Given the description of an element on the screen output the (x, y) to click on. 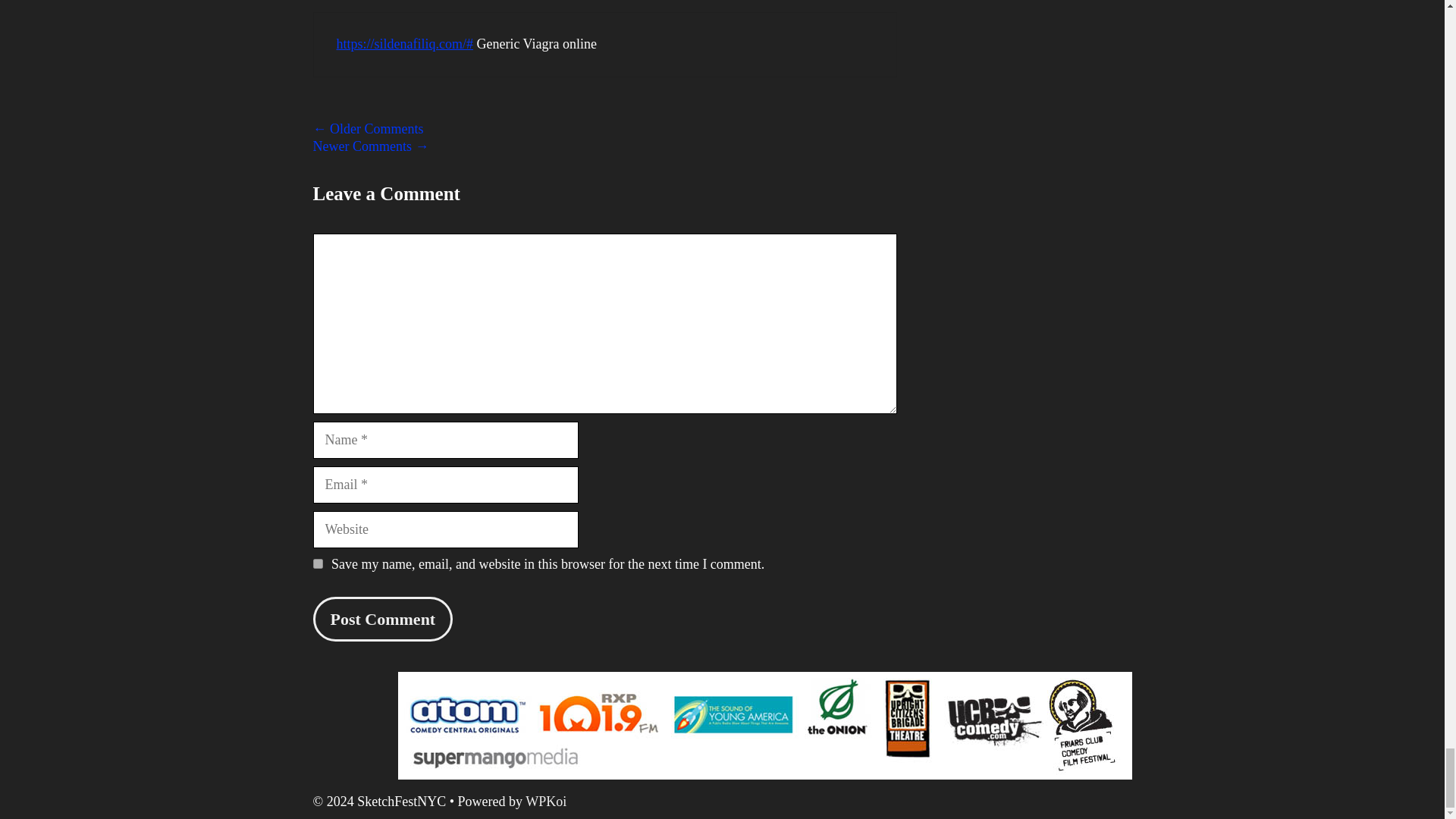
yes (317, 563)
Post Comment (382, 619)
